Given the description of an element on the screen output the (x, y) to click on. 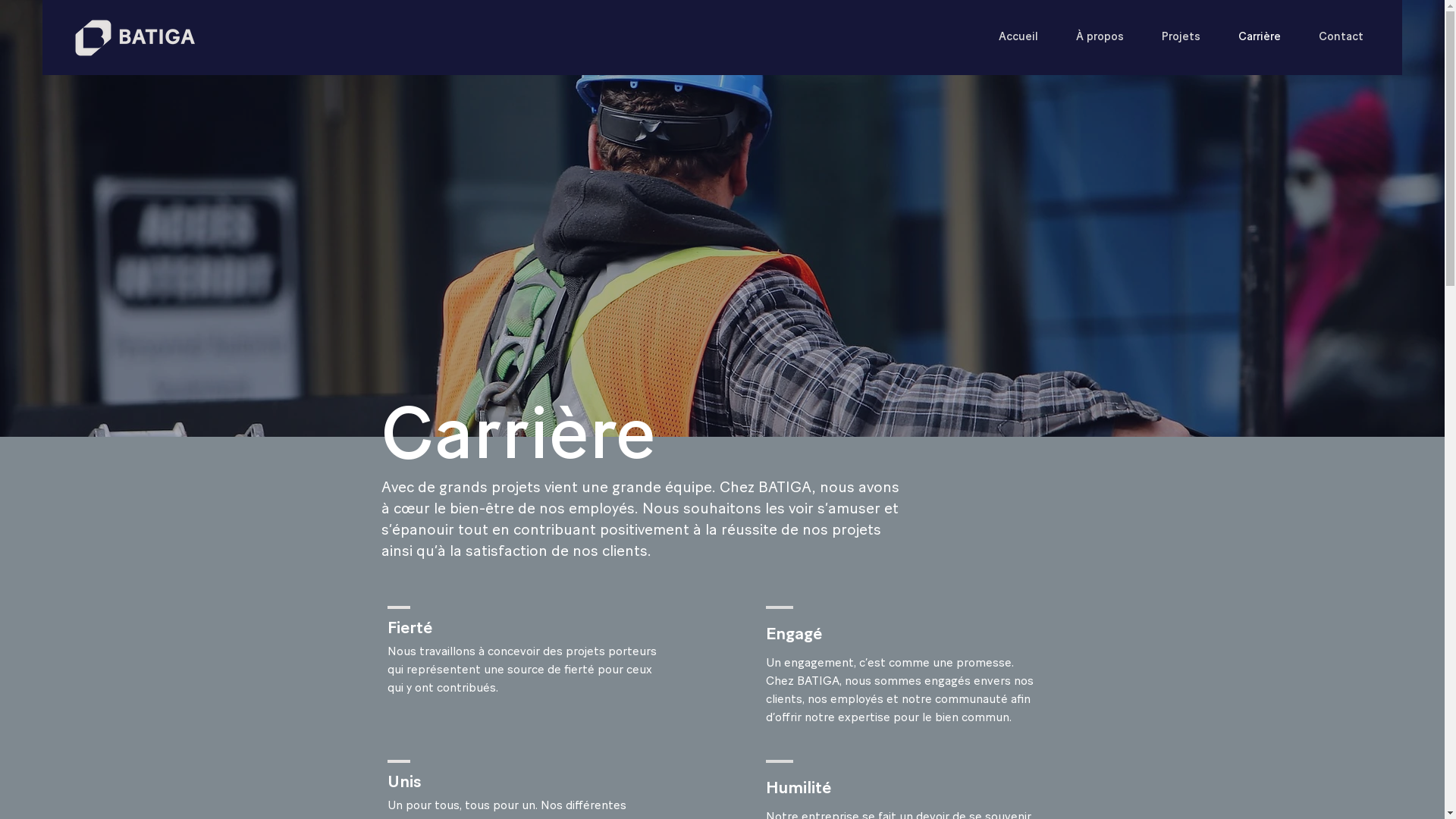
Contact Element type: text (1340, 36)
Accueil Element type: text (1018, 36)
Projets Element type: text (1180, 36)
